Given the description of an element on the screen output the (x, y) to click on. 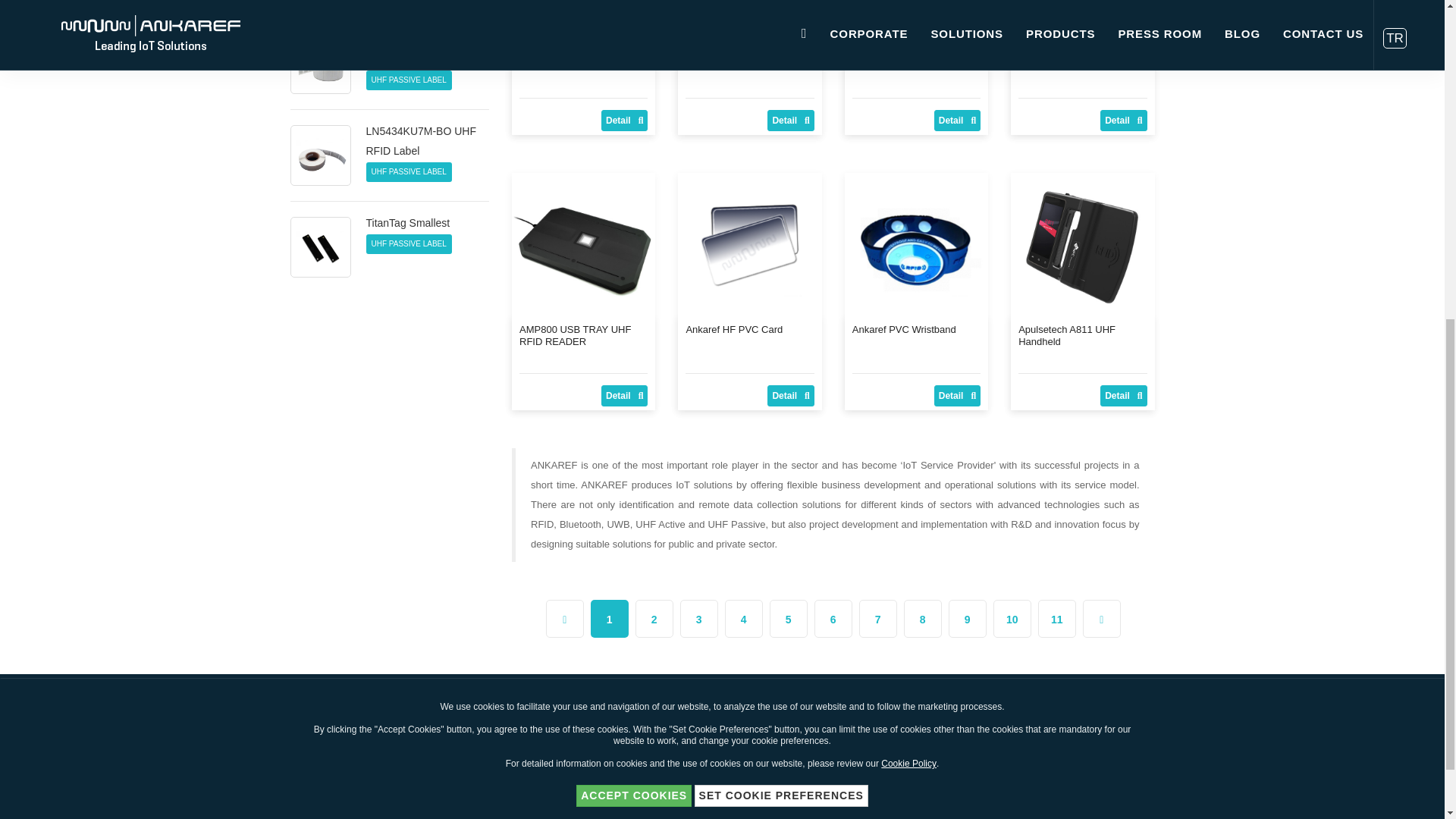
SET COOKIE PREFERENCES (780, 237)
ACCEPT COOKIES (633, 237)
Cookie Policy (908, 204)
